Given the description of an element on the screen output the (x, y) to click on. 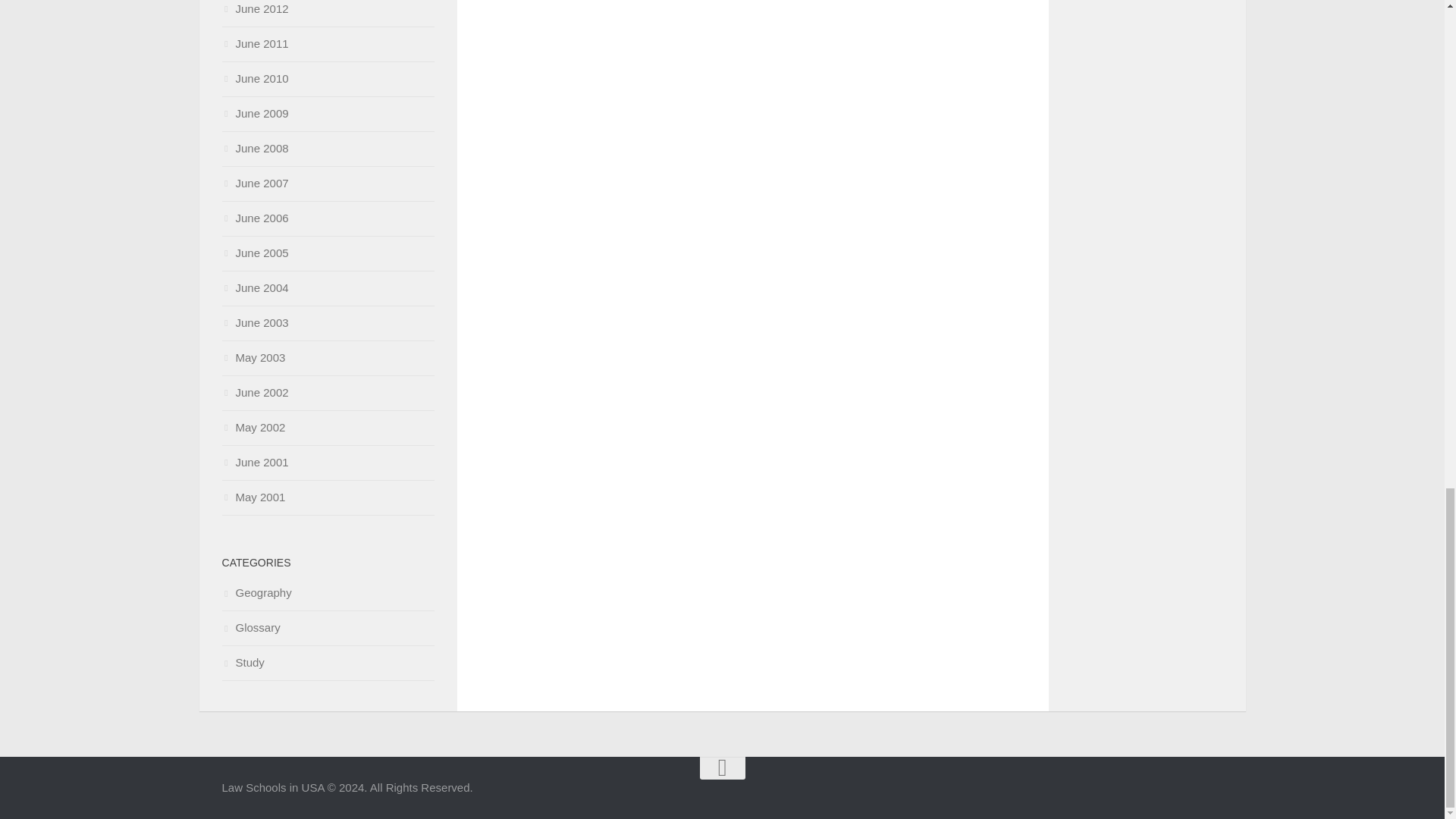
June 2009 (254, 113)
June 2012 (254, 8)
June 2004 (254, 287)
June 2011 (254, 42)
June 2007 (254, 182)
June 2003 (254, 322)
June 2008 (254, 147)
June 2002 (254, 391)
June 2005 (254, 252)
May 2003 (253, 357)
June 2010 (254, 78)
June 2006 (254, 217)
